Given the description of an element on the screen output the (x, y) to click on. 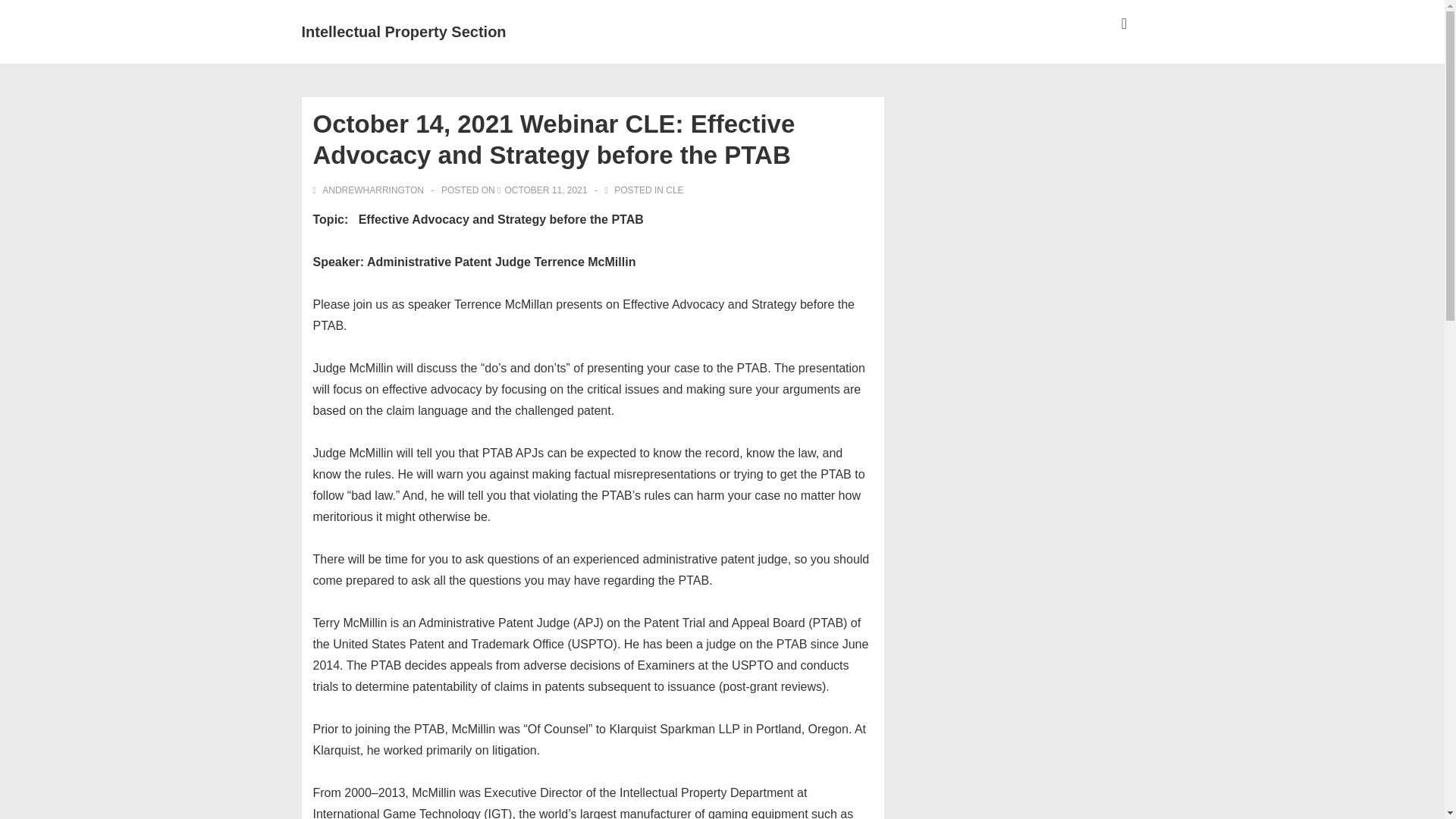
MENU (1123, 23)
ANDREWHARRINGTON (369, 190)
View all posts by andrewharrington (369, 190)
CLE (673, 190)
OCTOBER 11, 2021 (544, 190)
Intellectual Property Section (403, 31)
